Given the description of an element on the screen output the (x, y) to click on. 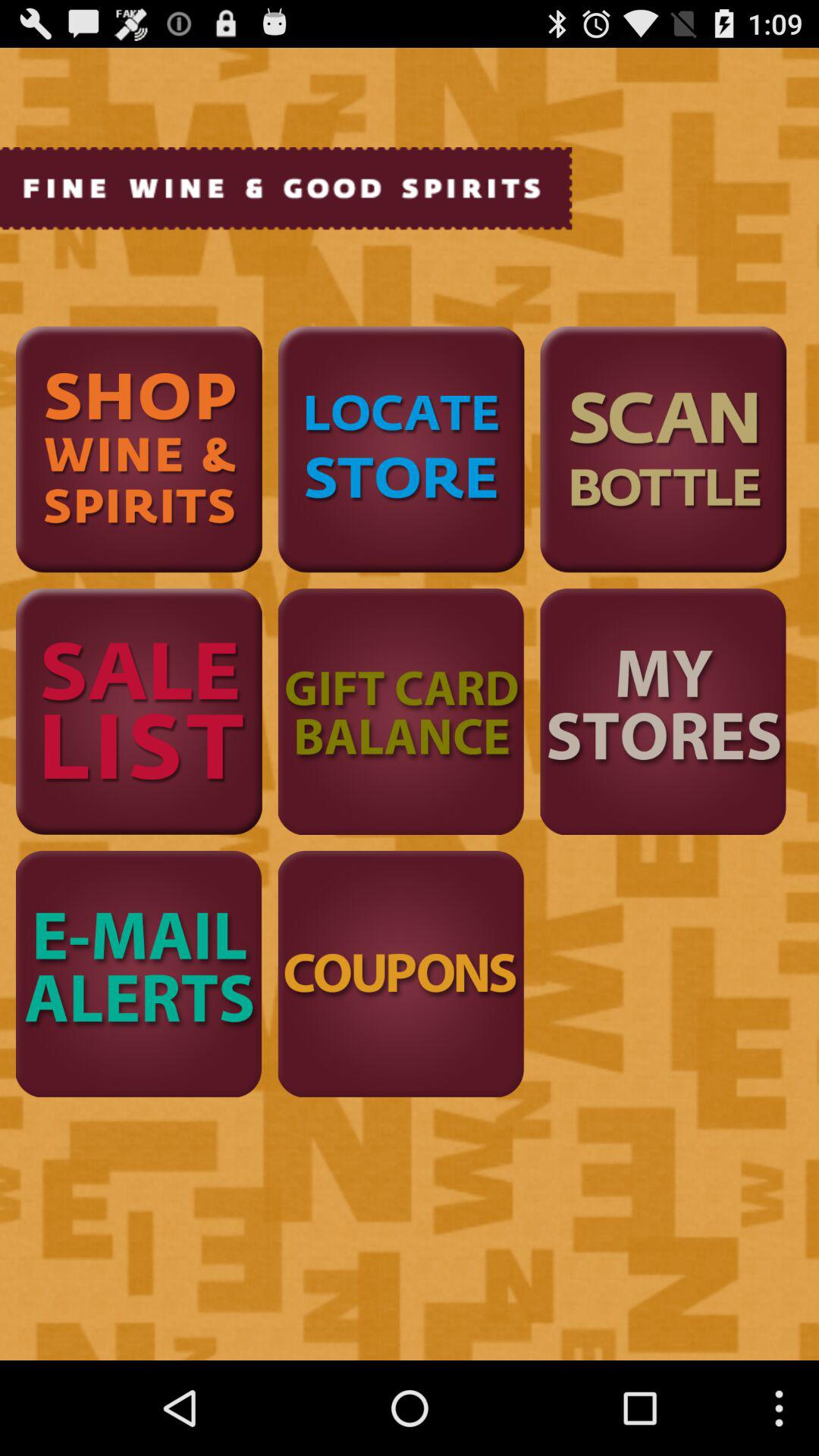
click to locate store option (401, 449)
